Given the description of an element on the screen output the (x, y) to click on. 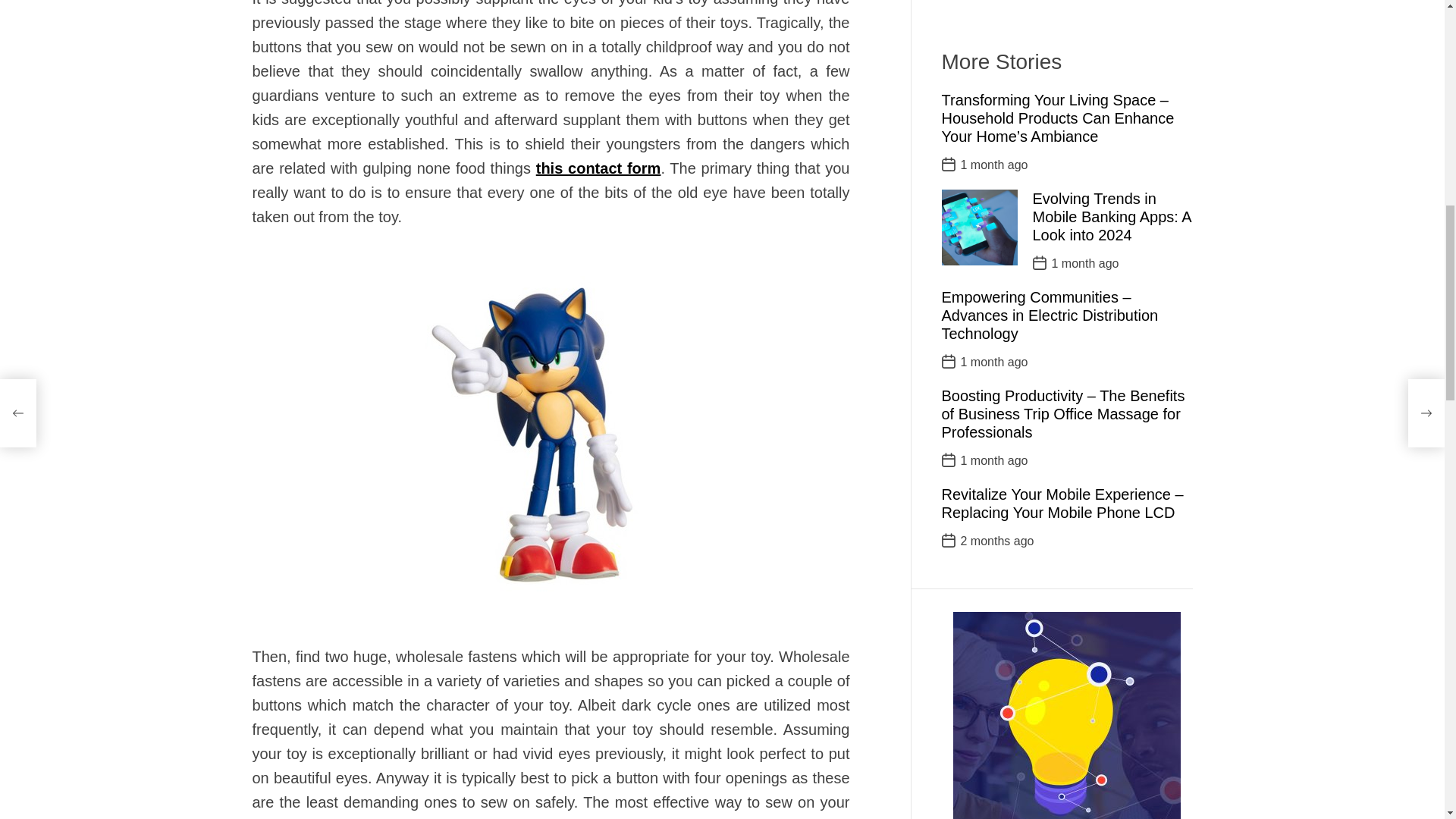
this contact form (598, 167)
Recent (1035, 685)
Tagged (1160, 685)
Comment (1098, 685)
Popular (973, 685)
